Given the description of an element on the screen output the (x, y) to click on. 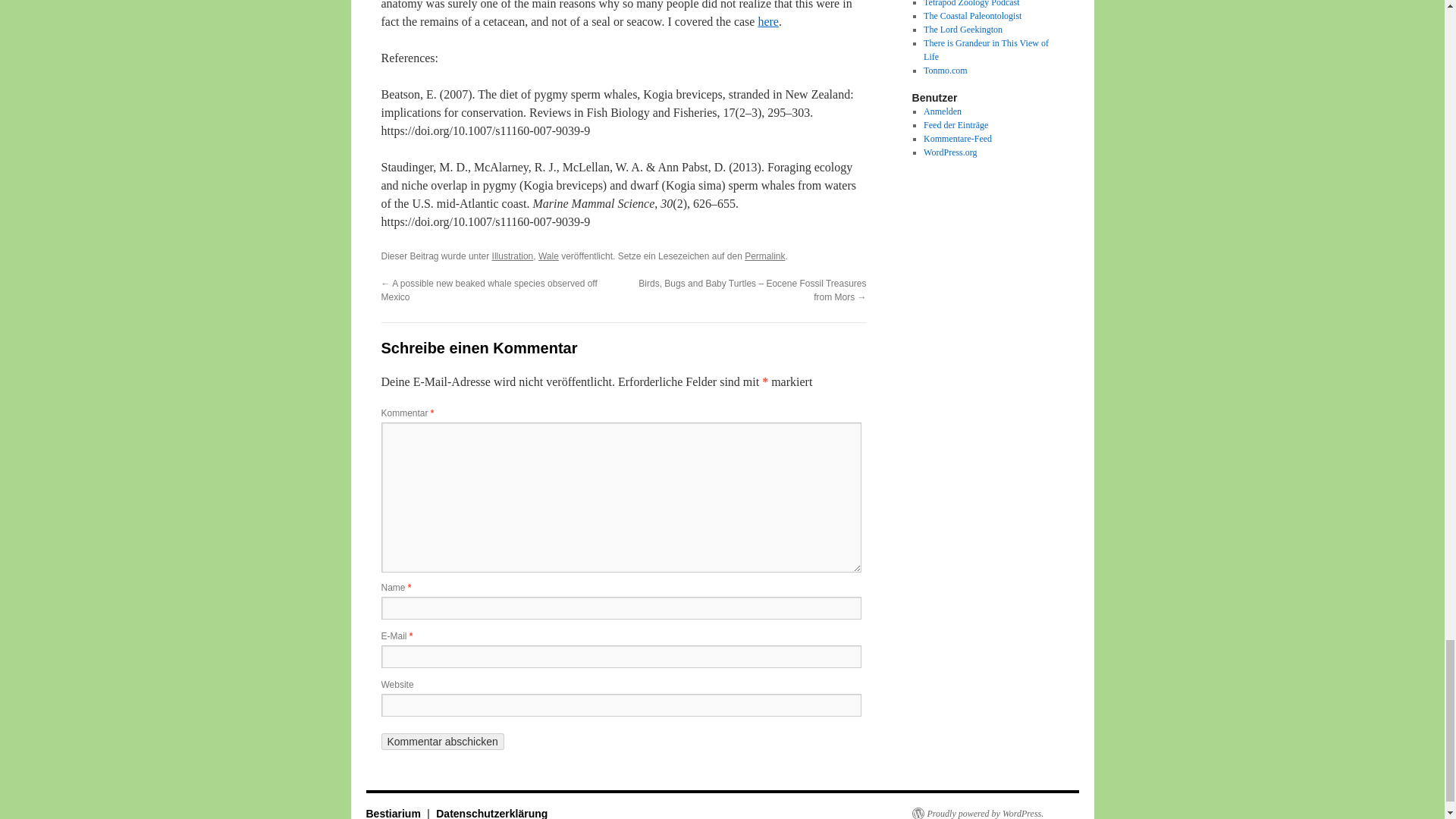
Kommentar abschicken (441, 741)
here (767, 21)
Illustration (513, 255)
Kommentar abschicken (441, 741)
Permalink (764, 255)
Wale (548, 255)
